Given the description of an element on the screen output the (x, y) to click on. 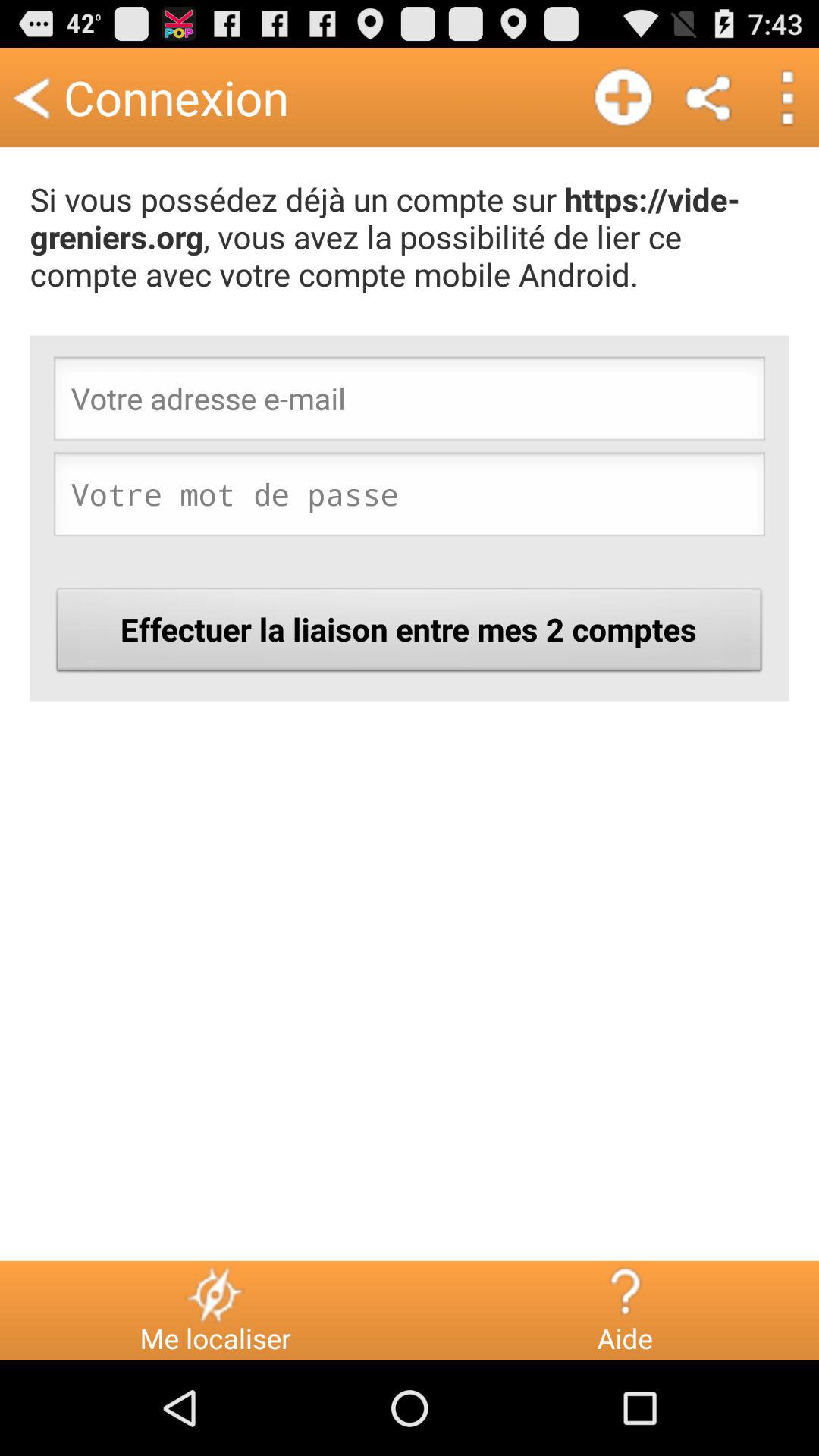
turn off the item above effectuer la liaison button (409, 498)
